Given the description of an element on the screen output the (x, y) to click on. 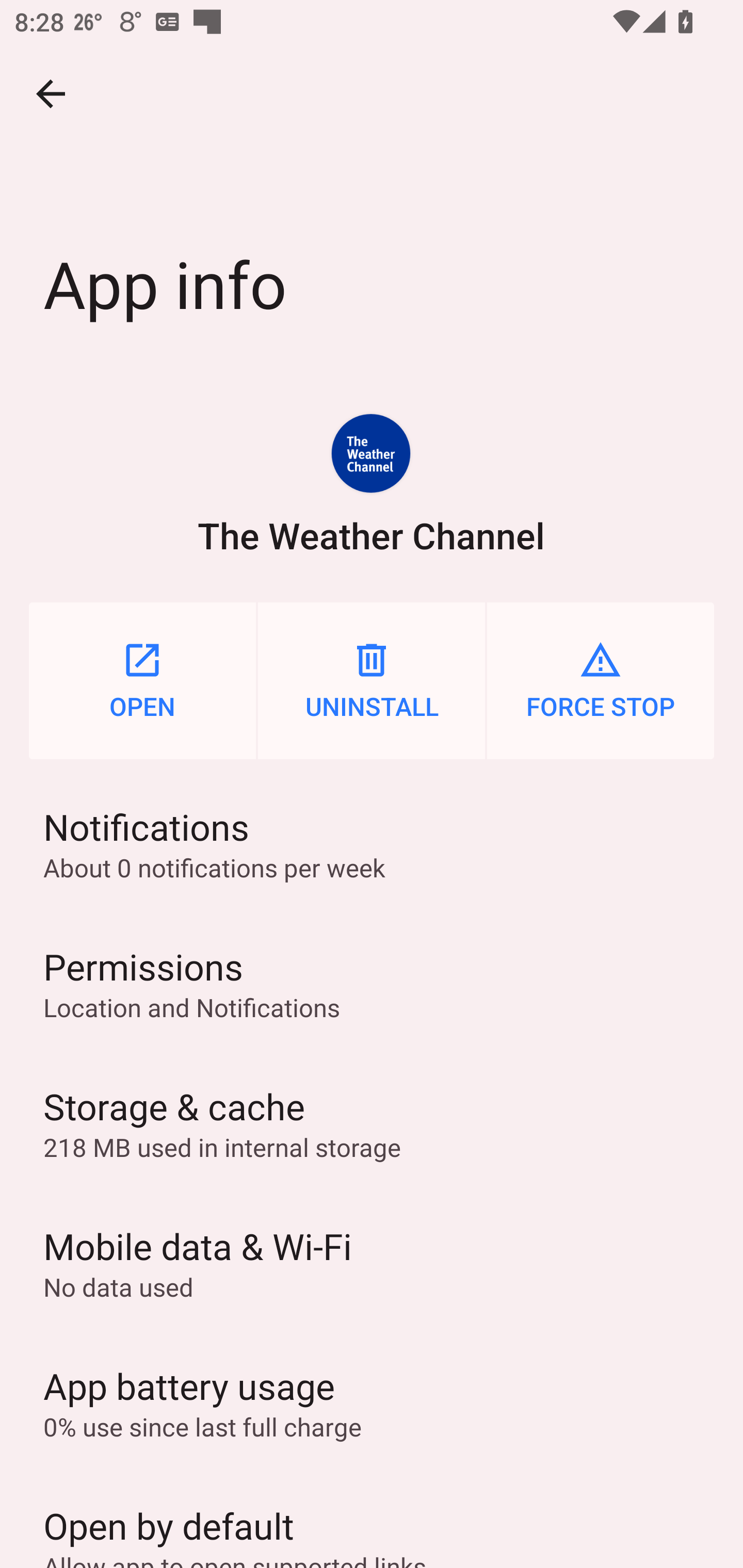
Navigate up (50, 93)
OPEN (141, 680)
UNINSTALL (371, 680)
FORCE STOP (600, 680)
Notifications About 0 notifications per week (371, 843)
Permissions Location and Notifications (371, 983)
Storage & cache 218 MB used in internal storage (371, 1123)
Mobile data & Wi‑Fi No data used (371, 1262)
App battery usage 0% use since last full charge (371, 1402)
Open by default Allow app to open supported links (371, 1520)
